Given the description of an element on the screen output the (x, y) to click on. 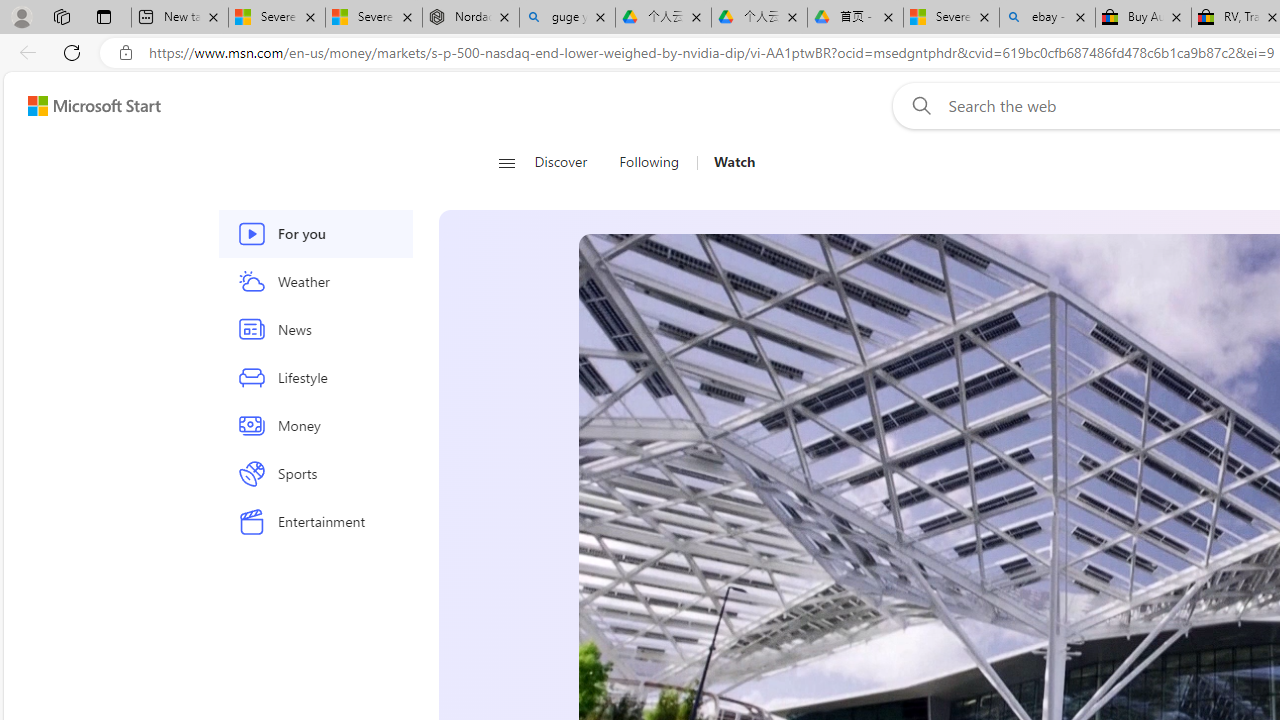
Buy Auto Parts & Accessories | eBay (1143, 17)
Web search (917, 105)
Skip to content (86, 105)
Class: button-glyph (505, 162)
